Given the description of an element on the screen output the (x, y) to click on. 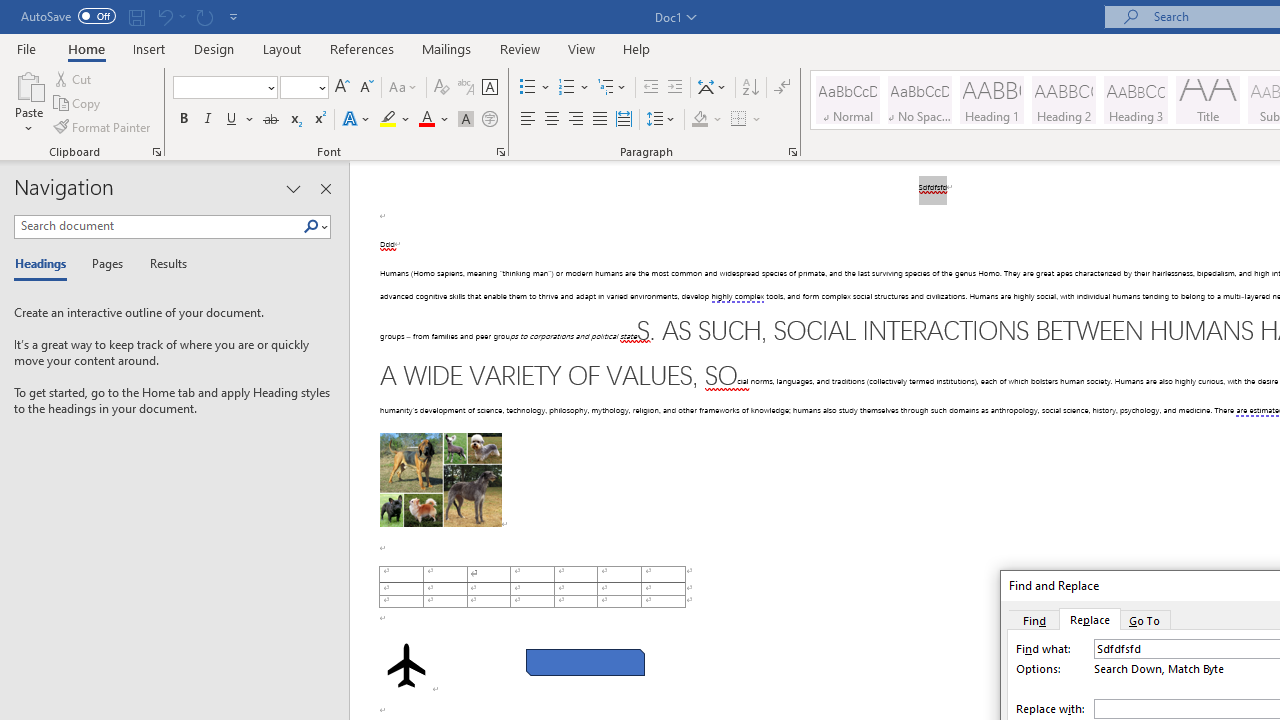
Italic (207, 119)
Undo Paragraph Alignment (170, 15)
Decrease Indent (650, 87)
Copy (78, 103)
Text Effects and Typography (357, 119)
Justify (599, 119)
Change Case (404, 87)
Clear Formatting (442, 87)
Subscript (294, 119)
Font (224, 87)
Shading RGB(0, 0, 0) (699, 119)
Superscript (319, 119)
Grow Font (342, 87)
Search (315, 227)
